Given the description of an element on the screen output the (x, y) to click on. 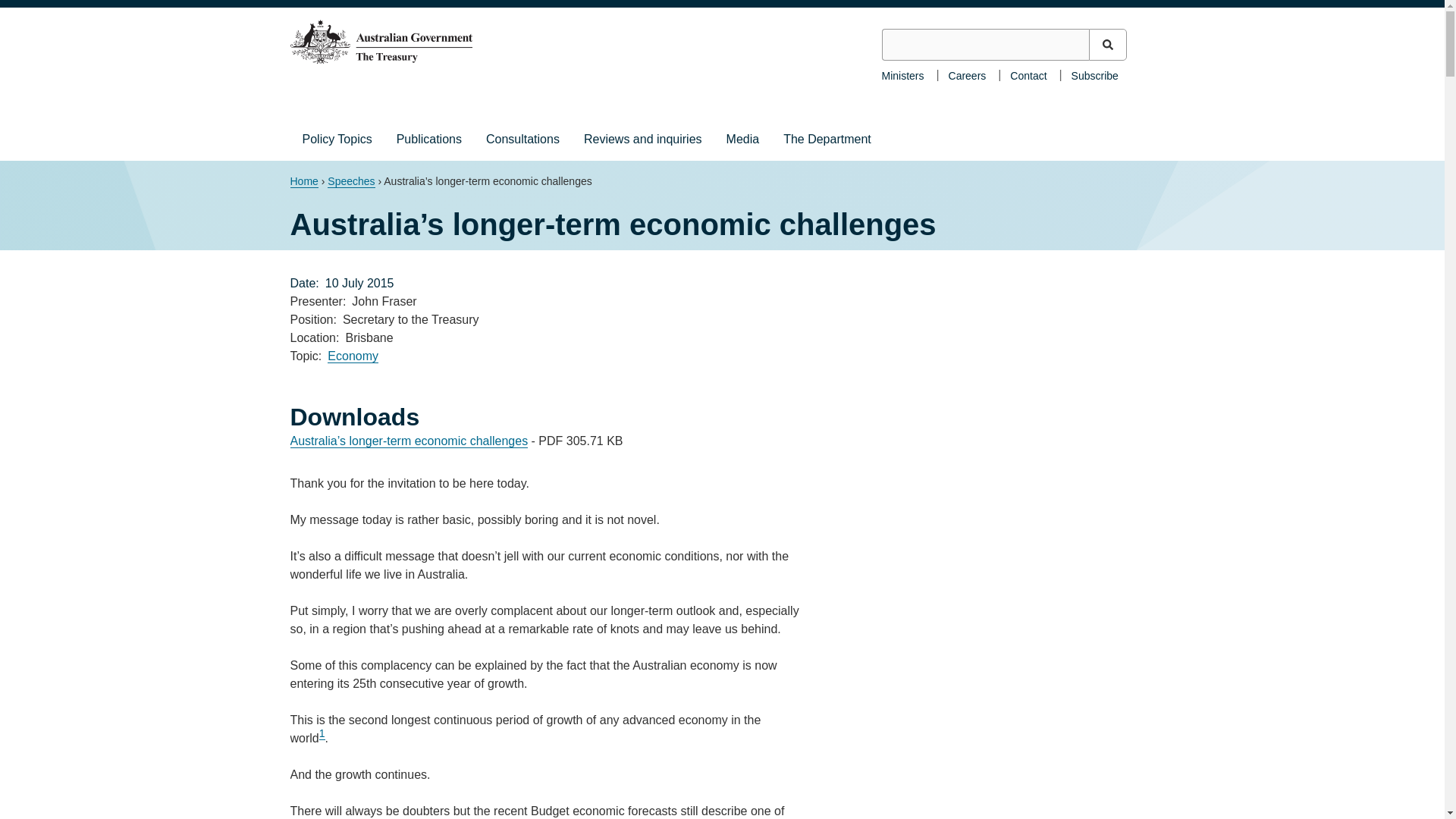
Speeches (350, 181)
Contact (1028, 74)
Home (303, 181)
Consultations (523, 138)
Economy (352, 356)
Apply (1107, 44)
Policy Topics (336, 138)
Careers (968, 74)
Ministers (901, 74)
Apply (1107, 44)
Publications (429, 138)
Reviews and inquiries (643, 138)
Subscribe (1094, 74)
The Department (827, 138)
Media (742, 138)
